Given the description of an element on the screen output the (x, y) to click on. 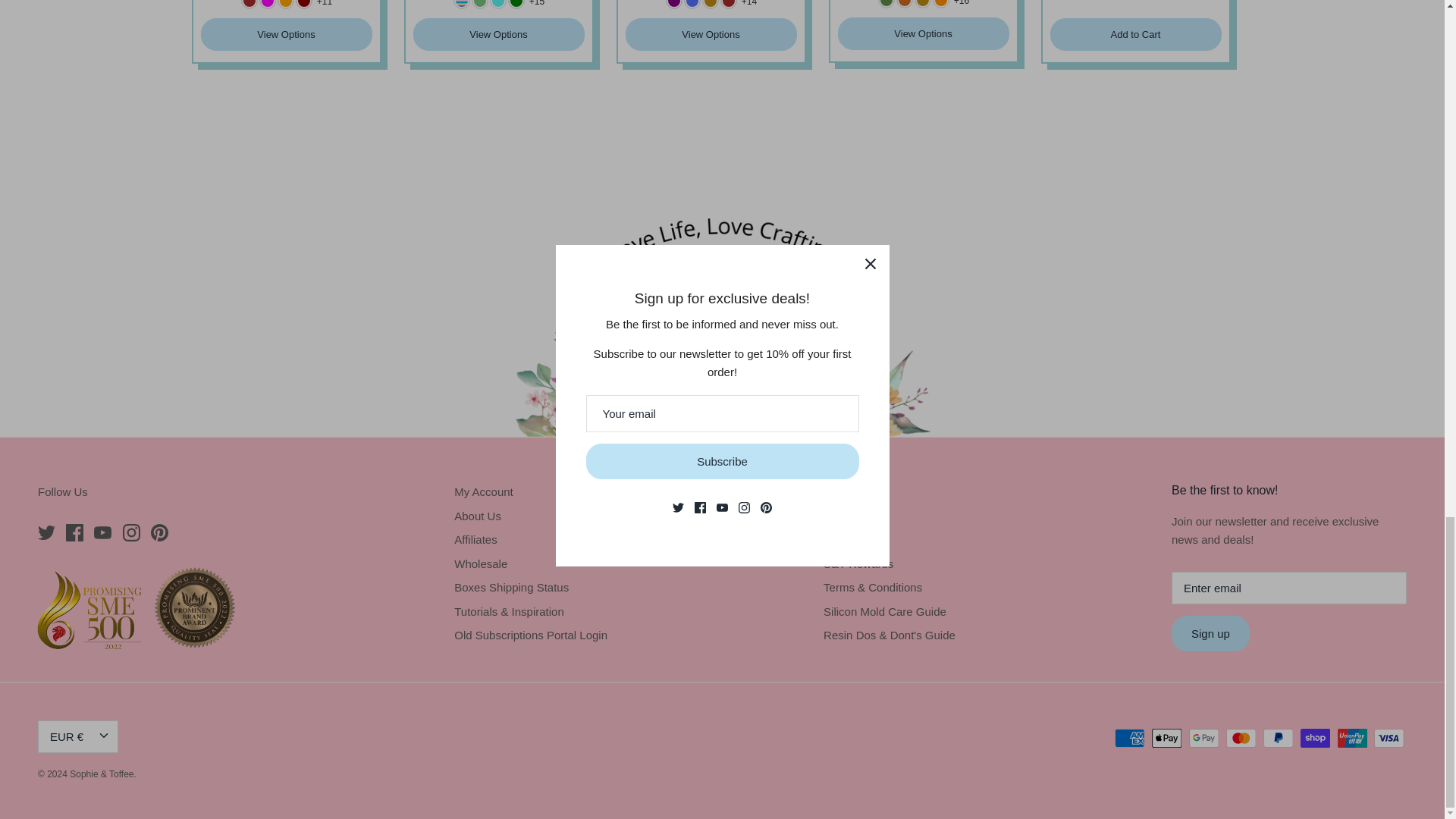
View Options (710, 34)
View Options (497, 34)
Add to Cart (1135, 34)
View Options (285, 34)
View Options (923, 33)
